Given the description of an element on the screen output the (x, y) to click on. 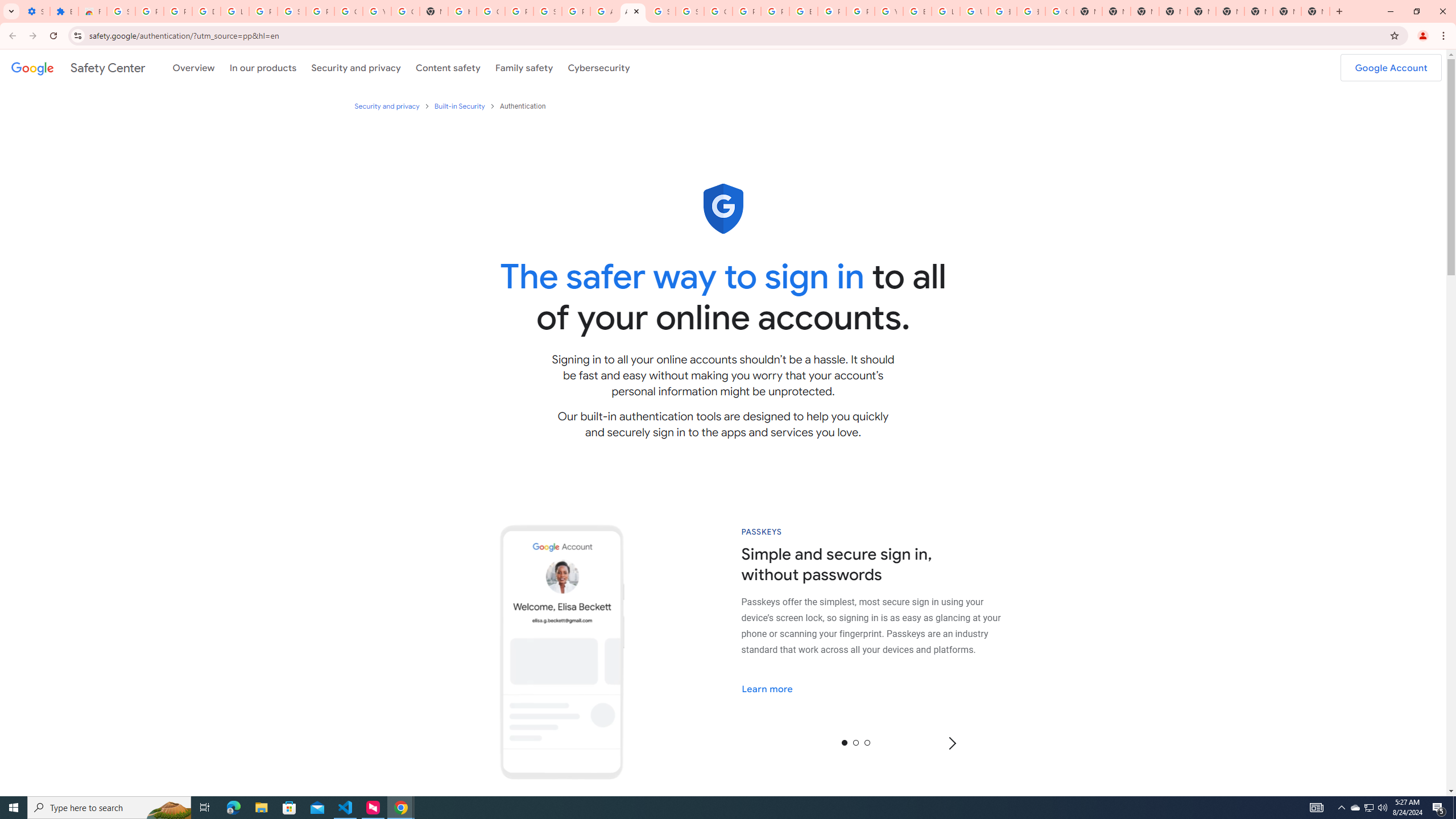
Delete photos & videos - Computer - Google Photos Help (206, 11)
Sign in - Google Accounts (120, 11)
In our products (262, 67)
New Tab (1315, 11)
Learn how to find your photos - Google Photos Help (234, 11)
Google Account (348, 11)
